Given the description of an element on the screen output the (x, y) to click on. 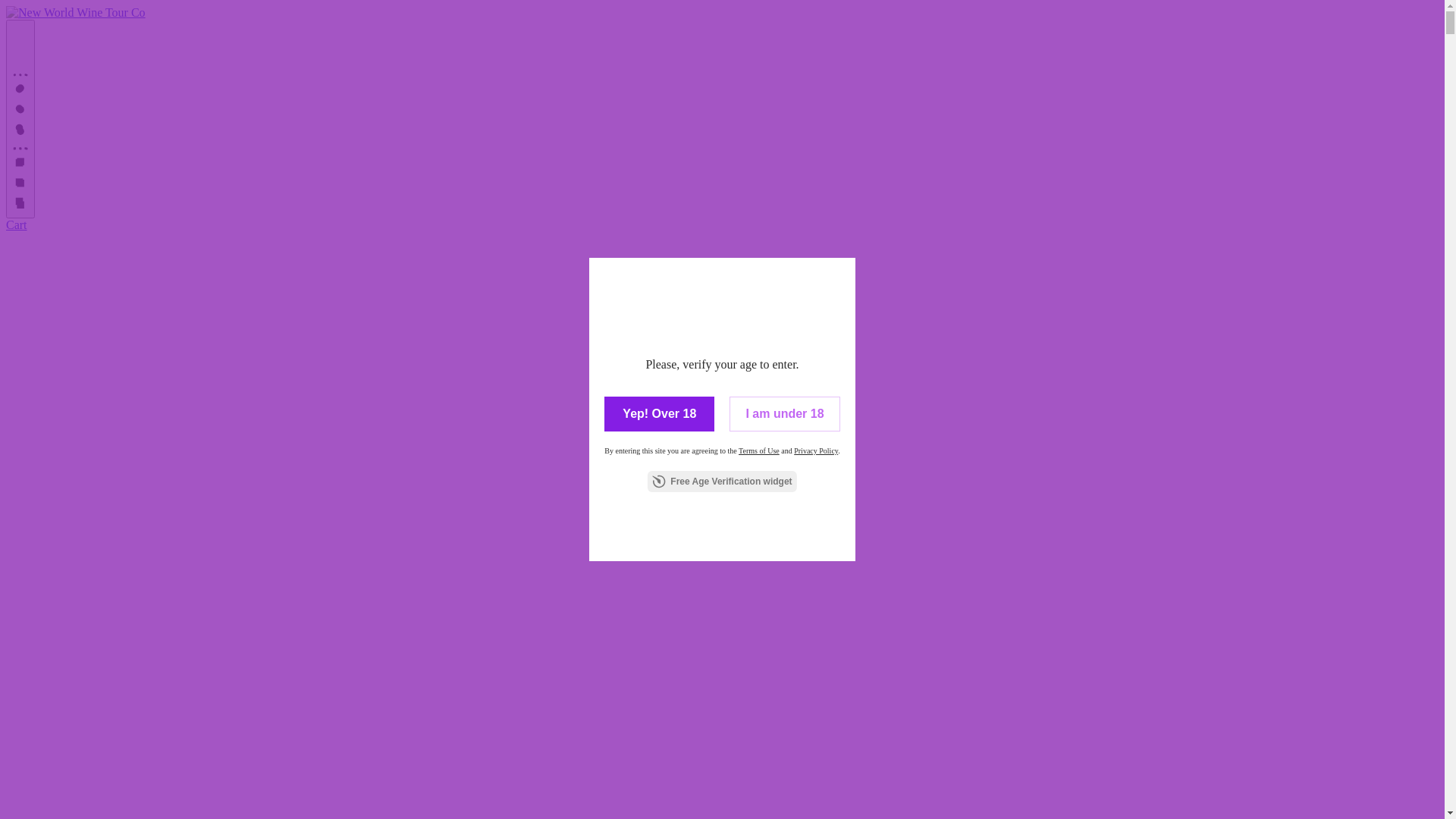
Terms of Use Element type: text (758, 450)
Privacy Policy Element type: text (815, 450)
Yep! Over 18 Element type: text (659, 413)
Free Age Verification widget Element type: text (721, 481)
I am under 18 Element type: text (784, 413)
